Given the description of an element on the screen output the (x, y) to click on. 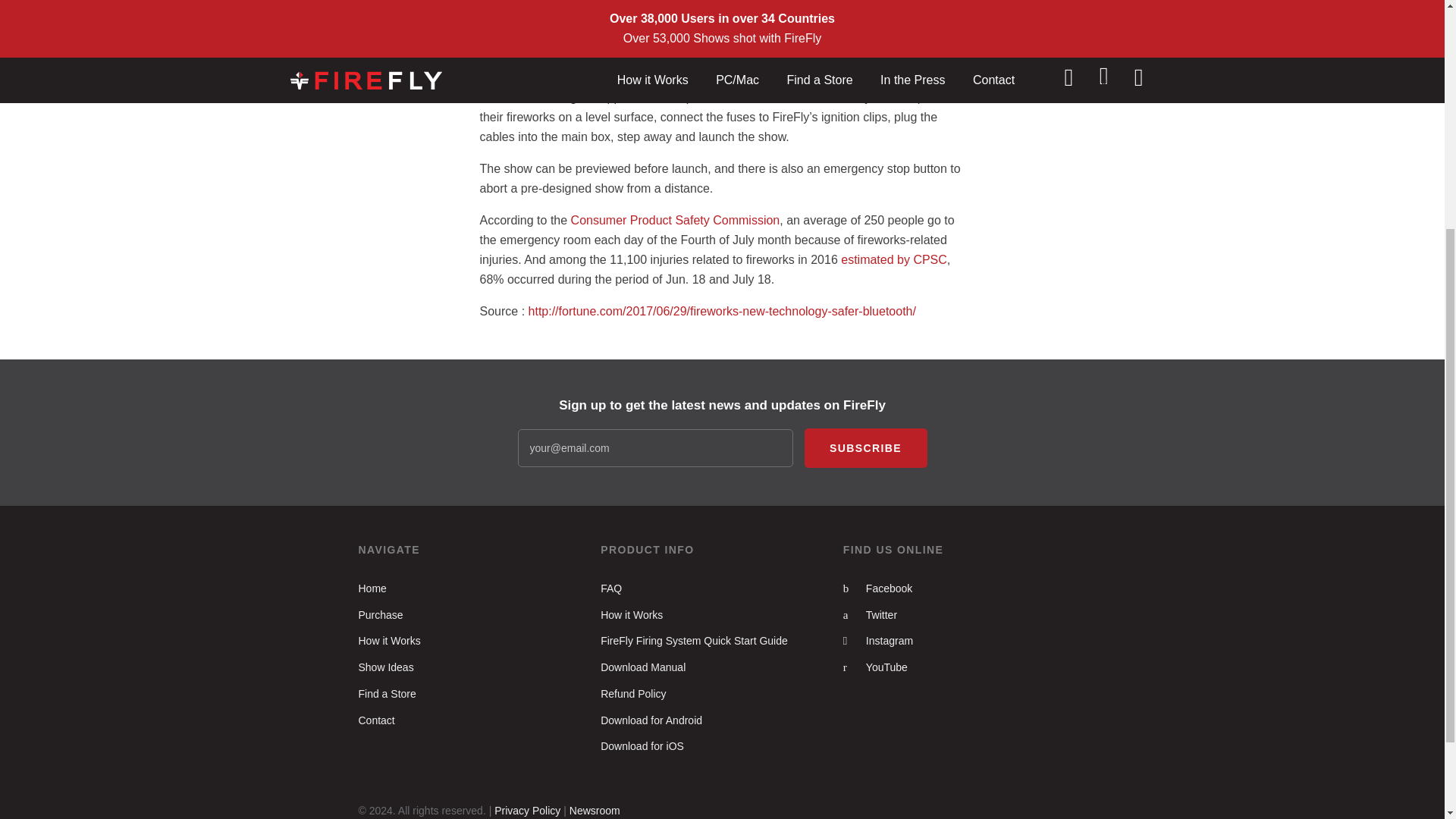
Download for iOS (641, 746)
estimated by CPSC (894, 259)
Instagram (877, 640)
How it Works (630, 614)
FireFly (831, 6)
Twitter (869, 614)
How it Works (389, 640)
Find a Store (386, 693)
FAQ (610, 588)
FireFly Firing System Quick Start Guide (693, 640)
